Given the description of an element on the screen output the (x, y) to click on. 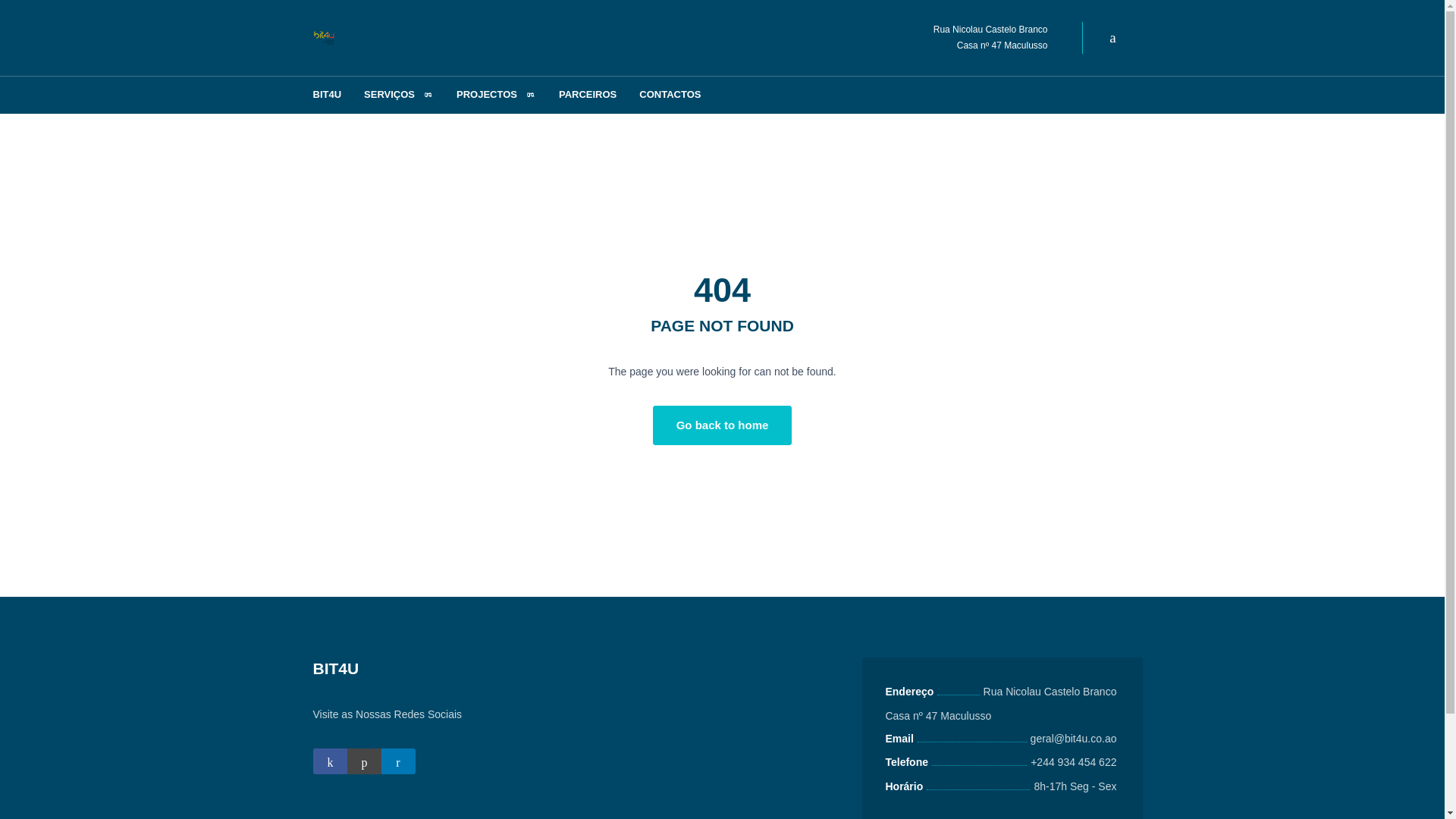
BIT4U (327, 94)
Go (18, 15)
CONTACTOS (669, 94)
PROJECTOS (496, 94)
PARCEIROS (587, 94)
Go back to home (722, 425)
